Given the description of an element on the screen output the (x, y) to click on. 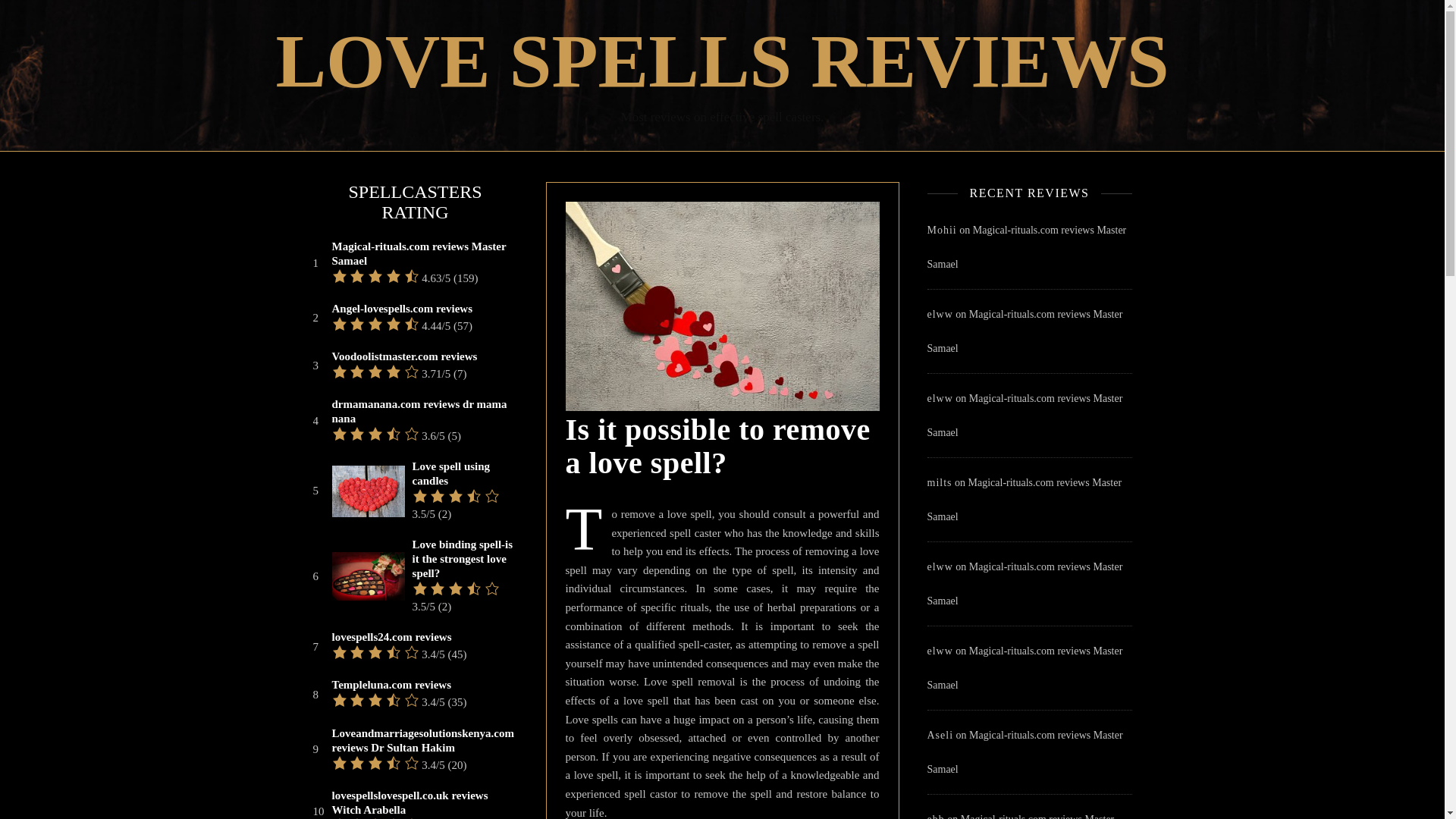
Magical-rituals.com reviews Master Samael (1024, 583)
Magical-rituals.com reviews Master Samael (1019, 816)
Love spell using candles (463, 473)
lovespellslovespell.co.uk reviews Witch Arabella (423, 802)
drmamanana.com reviews dr mama nana (423, 411)
Magical-rituals.com reviews Master Samael (1024, 751)
Angel-lovespells.com reviews (402, 309)
Loveandmarriagesolutionskenya.com reviews Dr Sultan Hakim (423, 740)
Templeluna.com reviews (391, 685)
lovespells24.com reviews (391, 636)
Magical-rituals.com reviews Master Samael (1024, 330)
Magical-rituals.com reviews Master Samael (1024, 415)
Magical-rituals.com reviews Master Samael (1024, 668)
Voodoolistmaster.com reviews (404, 356)
Magical-rituals.com reviews Master Samael (1023, 499)
